Given the description of an element on the screen output the (x, y) to click on. 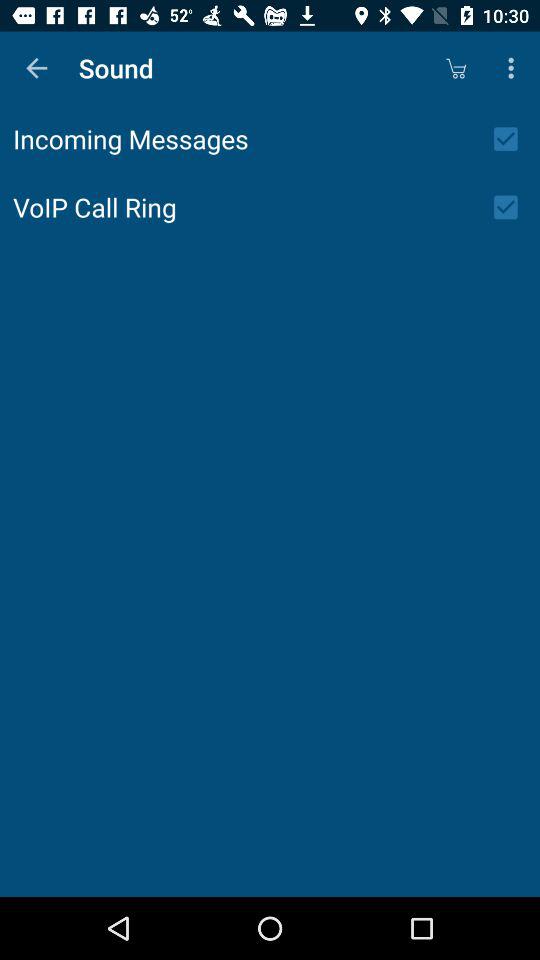
tap the app to the left of the sound item (36, 68)
